Given the description of an element on the screen output the (x, y) to click on. 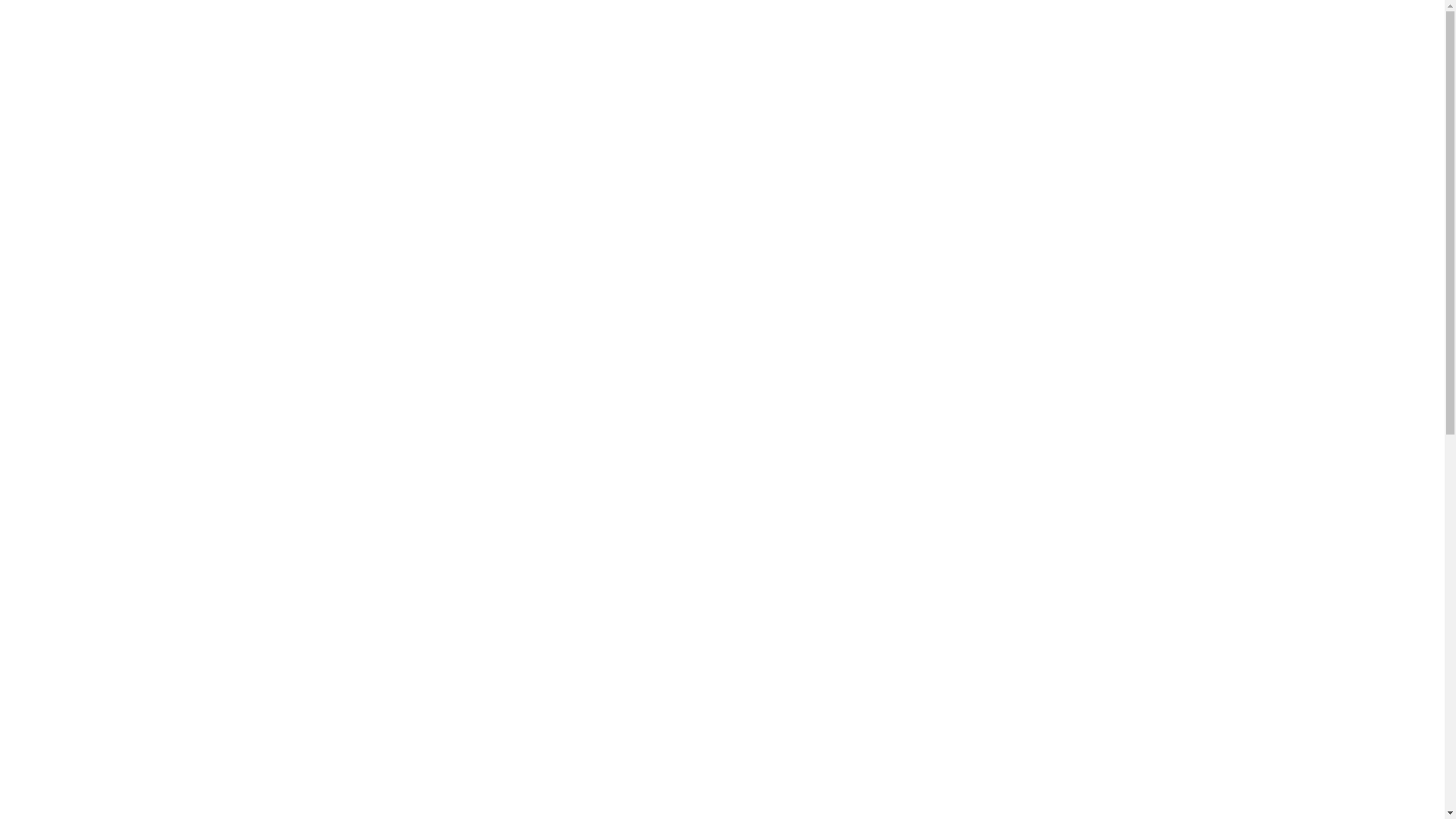
Go Element type: text (317, 345)
Go Element type: text (28, 490)
